Given the description of an element on the screen output the (x, y) to click on. 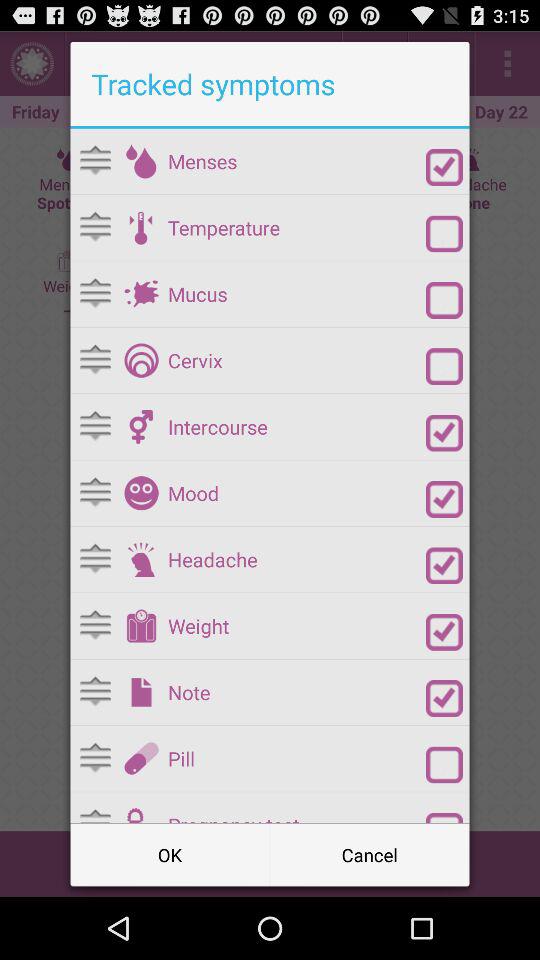
fever (444, 233)
